Given the description of an element on the screen output the (x, y) to click on. 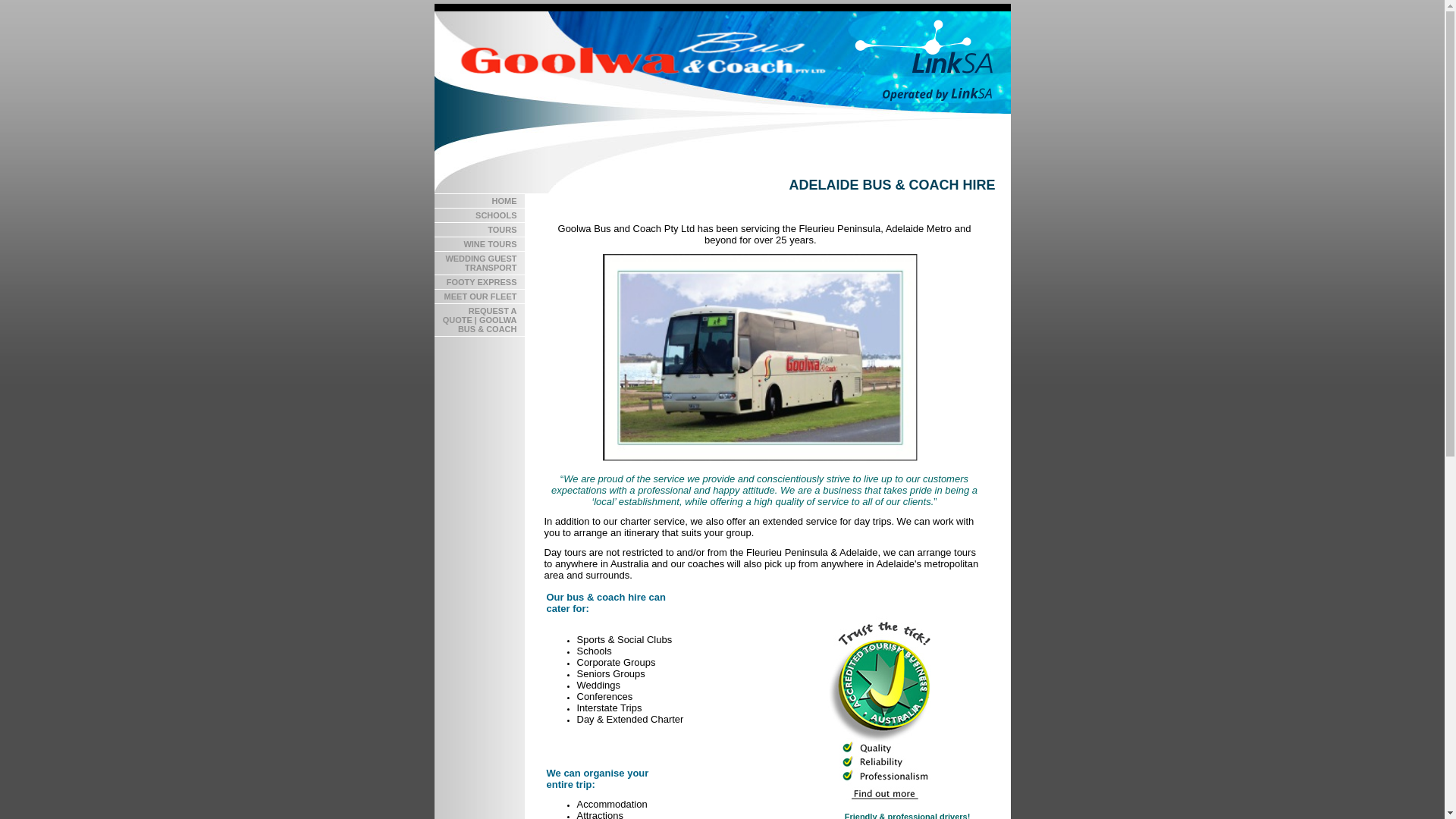
WINE TOURS Element type: text (478, 244)
SCHOOLS Element type: text (478, 215)
WEDDING GUEST TRANSPORT Element type: text (478, 263)
MEET OUR FLEET Element type: text (478, 296)
TOURS Element type: text (478, 229)
Goolwa Bus and Coach - operated by LinkSA Element type: hover (719, 61)
HOME Element type: text (478, 201)
REQUEST A QUOTE | GOOLWA BUS & COACH Element type: text (478, 320)
FOOTY EXPRESS Element type: text (478, 282)
